Given the description of an element on the screen output the (x, y) to click on. 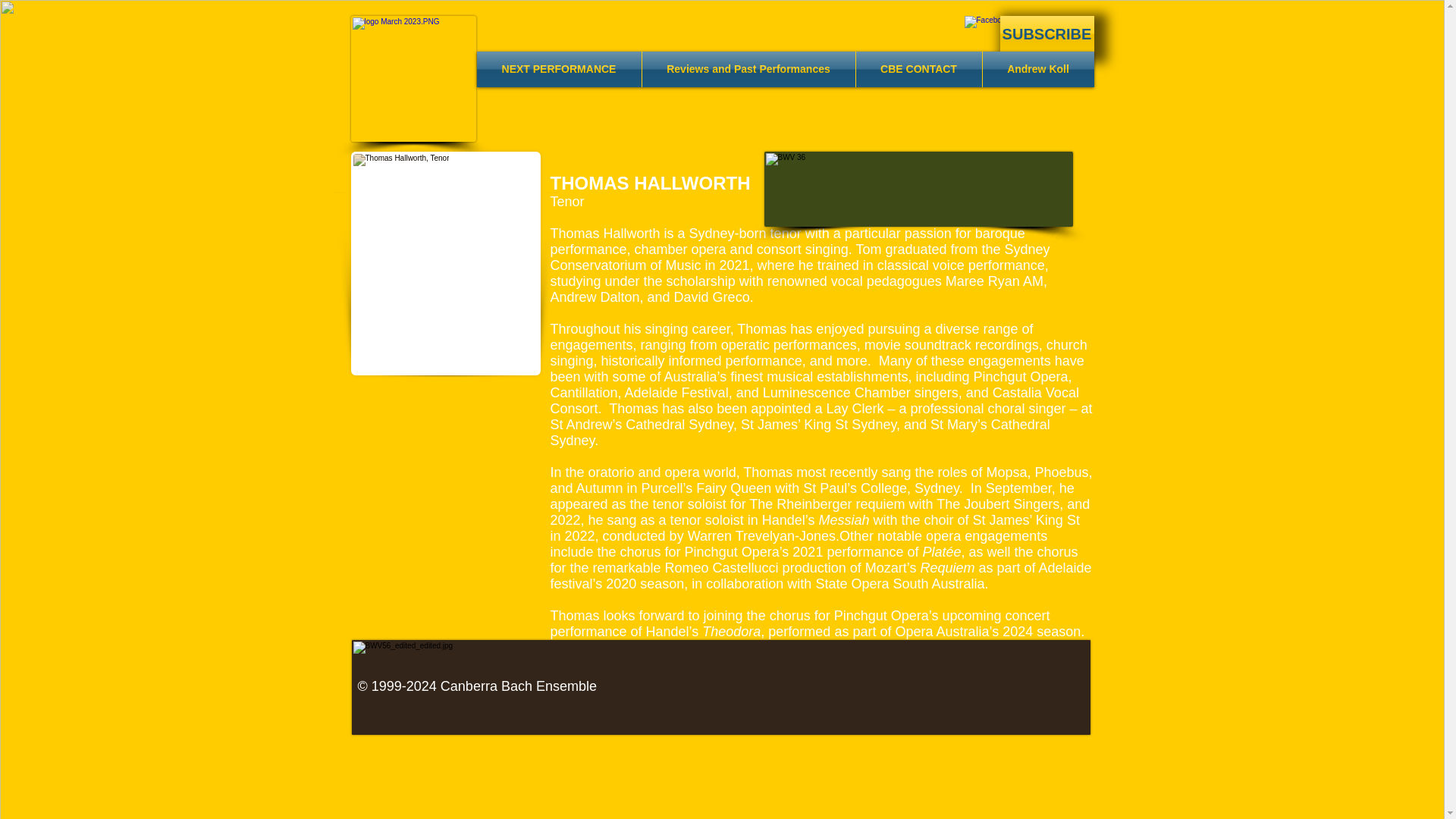
Andrew Koll (1038, 68)
BWV56.png (721, 686)
BWV 36 (918, 188)
SUBSCRIBE (1045, 33)
Reviews and Past Performances (748, 68)
NEXT PERFORMANCE (558, 68)
C (413, 78)
CBE CONTACT (918, 68)
